Given the description of an element on the screen output the (x, y) to click on. 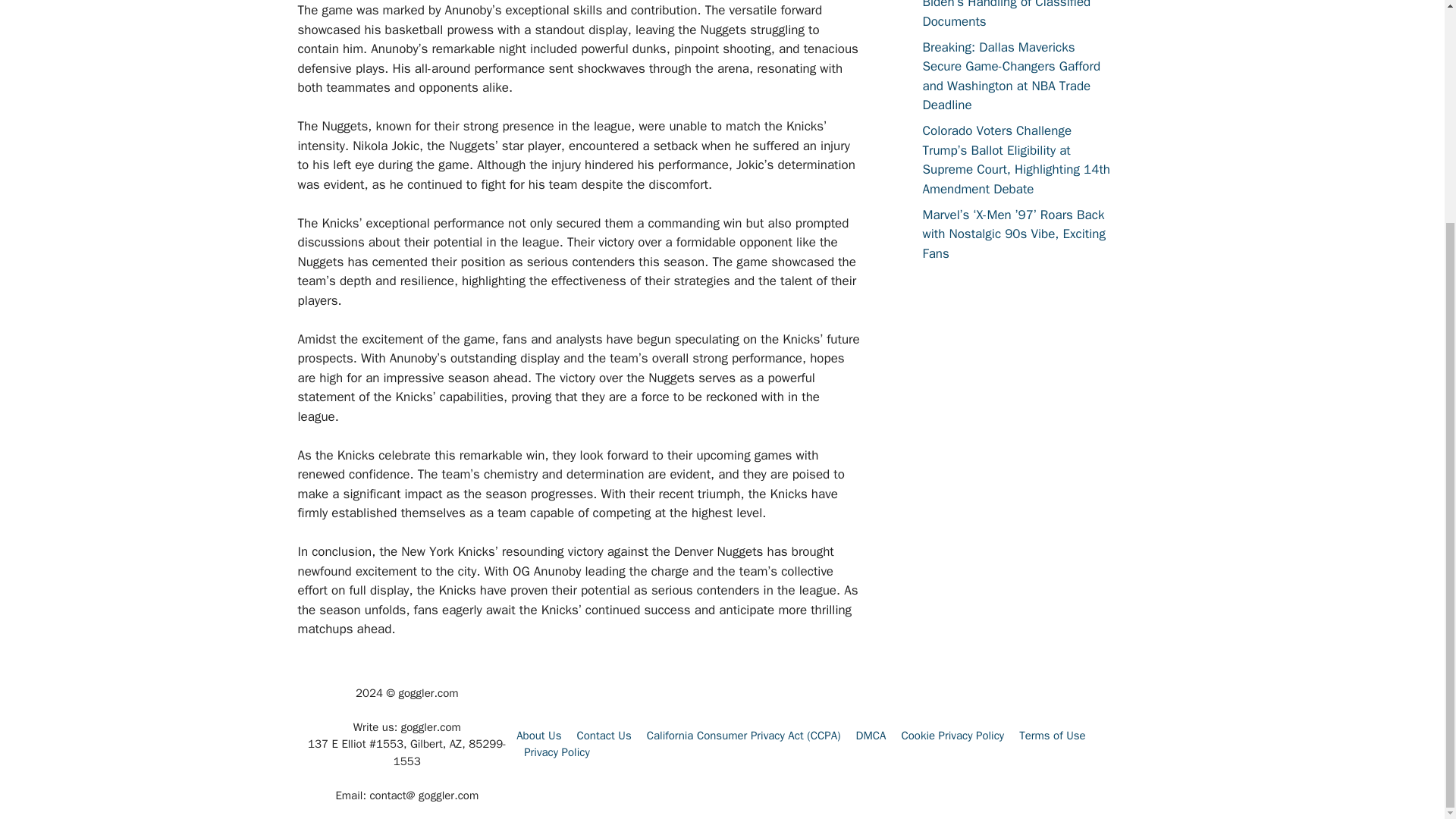
Privacy Policy (556, 752)
Cookie Privacy Policy (952, 735)
Contact Us (603, 735)
Terms of Use (1052, 735)
About Us (538, 735)
DMCA (871, 735)
